Given the description of an element on the screen output the (x, y) to click on. 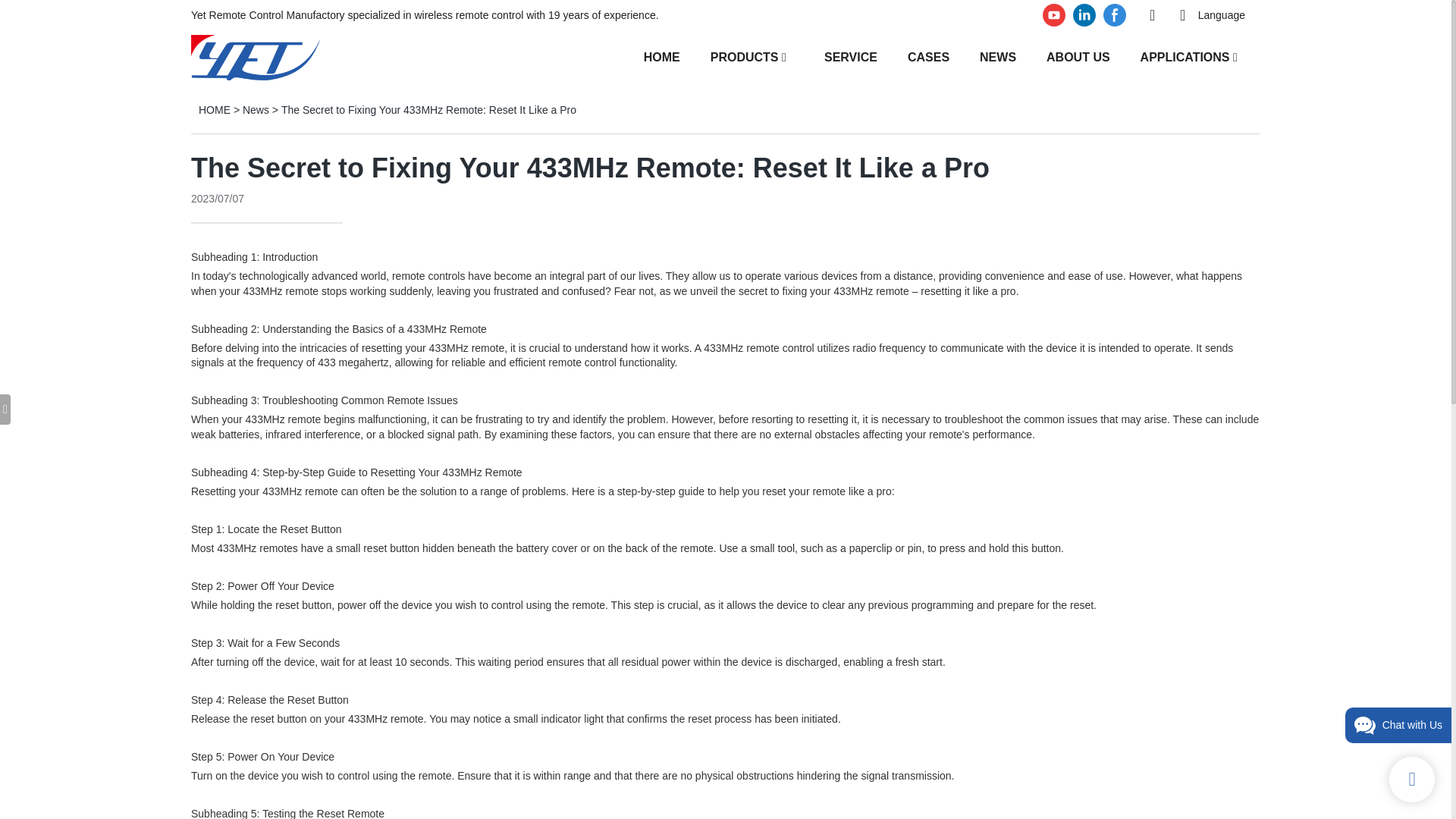
facebook (1114, 15)
linkedin (1083, 15)
HOME (661, 56)
HOME (214, 110)
youtube (1053, 15)
SERVICE (850, 56)
APPLICATIONS (1185, 56)
PRODUCTS (744, 56)
The Secret to Fixing Your 433MHz Remote: Reset It Like a Pro (428, 110)
News (256, 110)
